Given the description of an element on the screen output the (x, y) to click on. 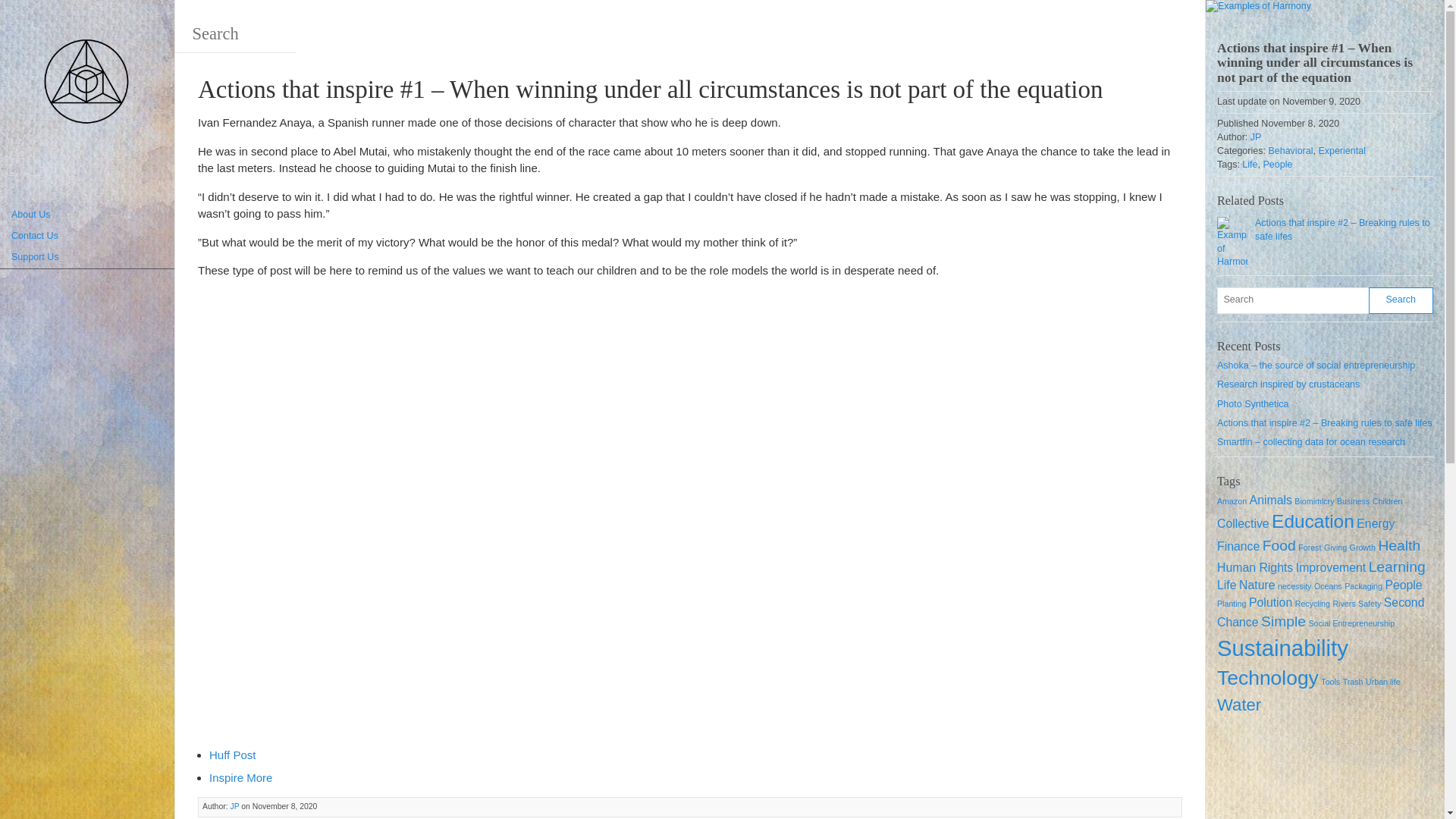
Amazon (1231, 500)
Behavioral (1290, 150)
Search (235, 34)
Posts by JP (234, 806)
Posts by JP (1256, 136)
Contact Us (87, 236)
Animals (1270, 499)
Examples of Harmony (87, 85)
Search (58, 18)
About Us (87, 215)
